Given the description of an element on the screen output the (x, y) to click on. 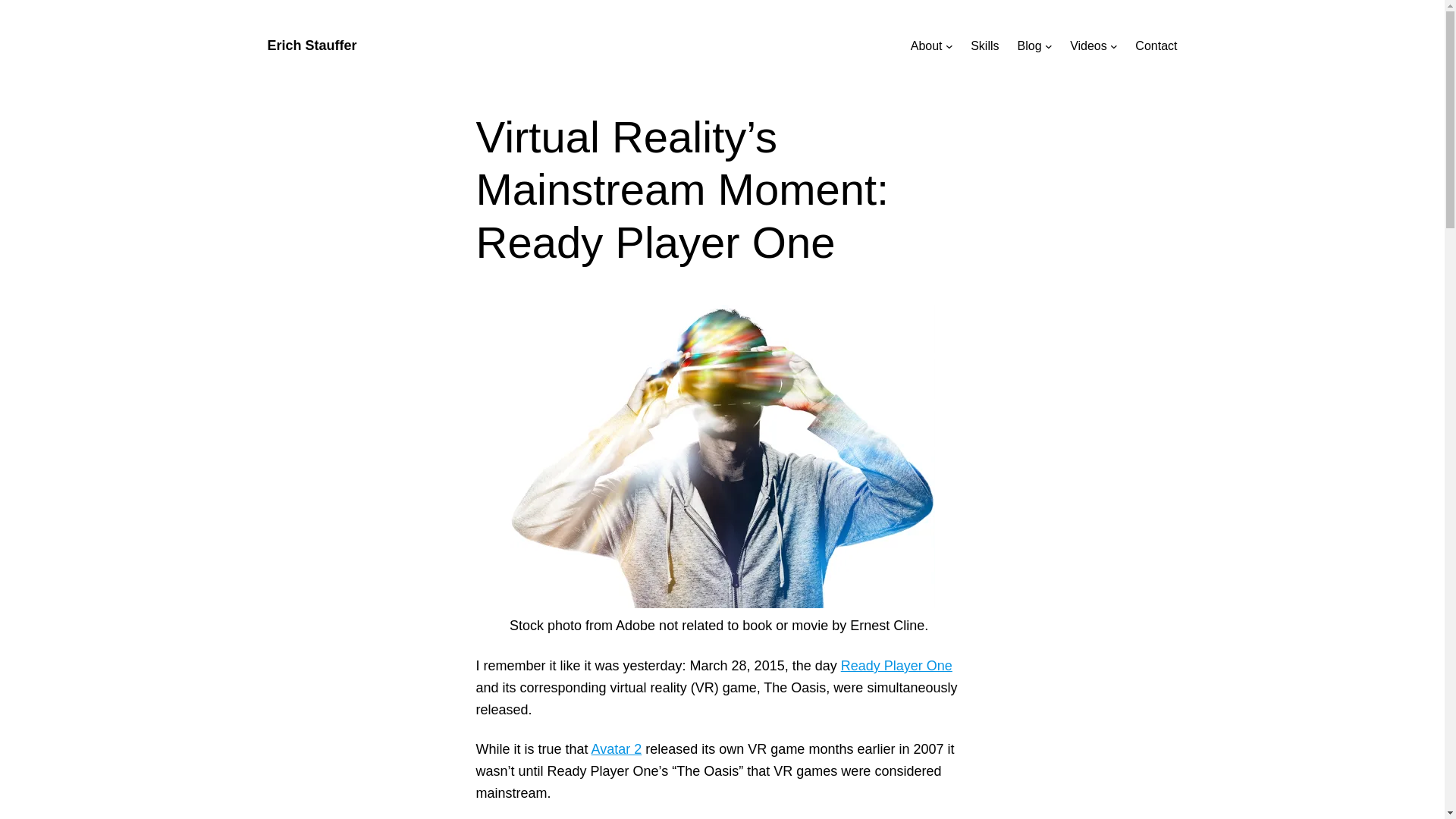
Avatar 2 (616, 749)
Ready Player One (896, 665)
Blog (1029, 46)
Videos (1088, 46)
Skills (984, 46)
About (926, 46)
Erich Stauffer (311, 45)
Contact (1155, 46)
